Given the description of an element on the screen output the (x, y) to click on. 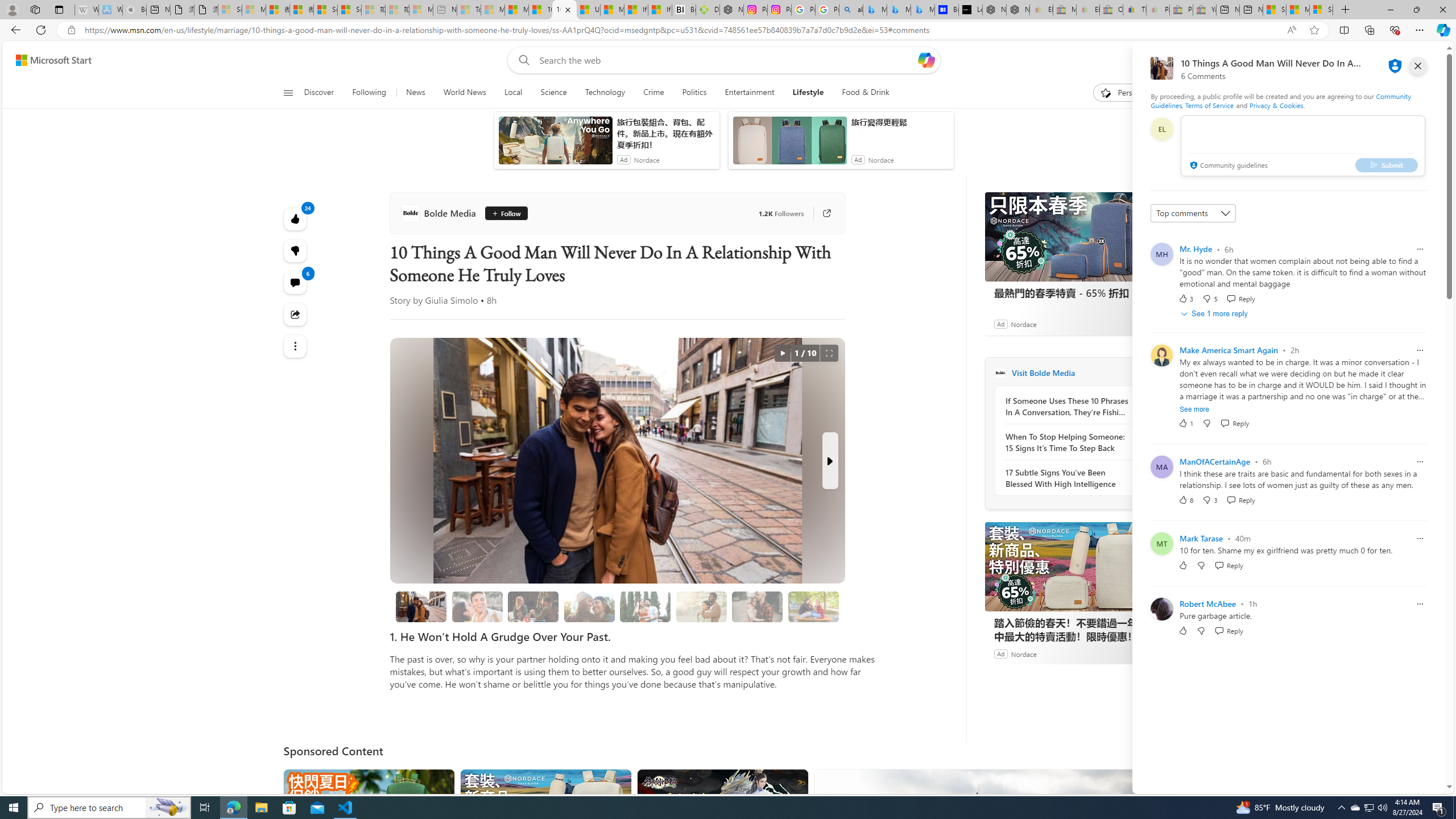
App bar (728, 29)
Personal Profile (12, 9)
Descarga Driver Updater (708, 9)
Sign in to your Microsoft account - Sleeping (229, 9)
Ad Choice (1142, 653)
Dislike (1200, 630)
Follow (505, 213)
